Given the description of an element on the screen output the (x, y) to click on. 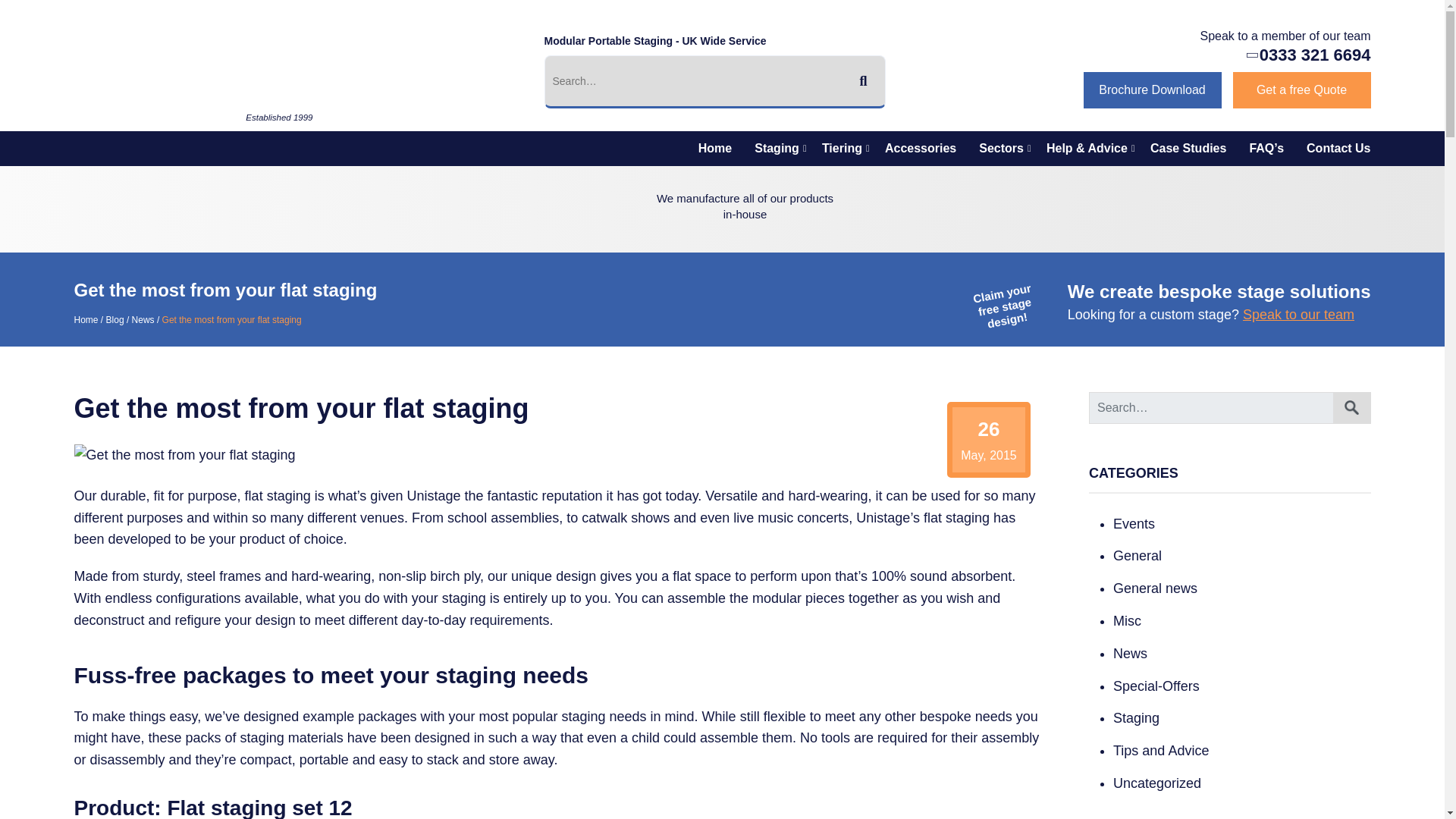
Case Studies (1187, 148)
Search (1352, 408)
Sectors (1001, 148)
Search (1352, 408)
Tiering (841, 148)
0333 321 6694 (1315, 54)
Contact Us (1332, 148)
Get a free Quote (1302, 90)
Go back to the home page (159, 106)
Home (714, 148)
Accessories (920, 148)
Staging (776, 148)
Brochure Download (1152, 90)
